Given the description of an element on the screen output the (x, y) to click on. 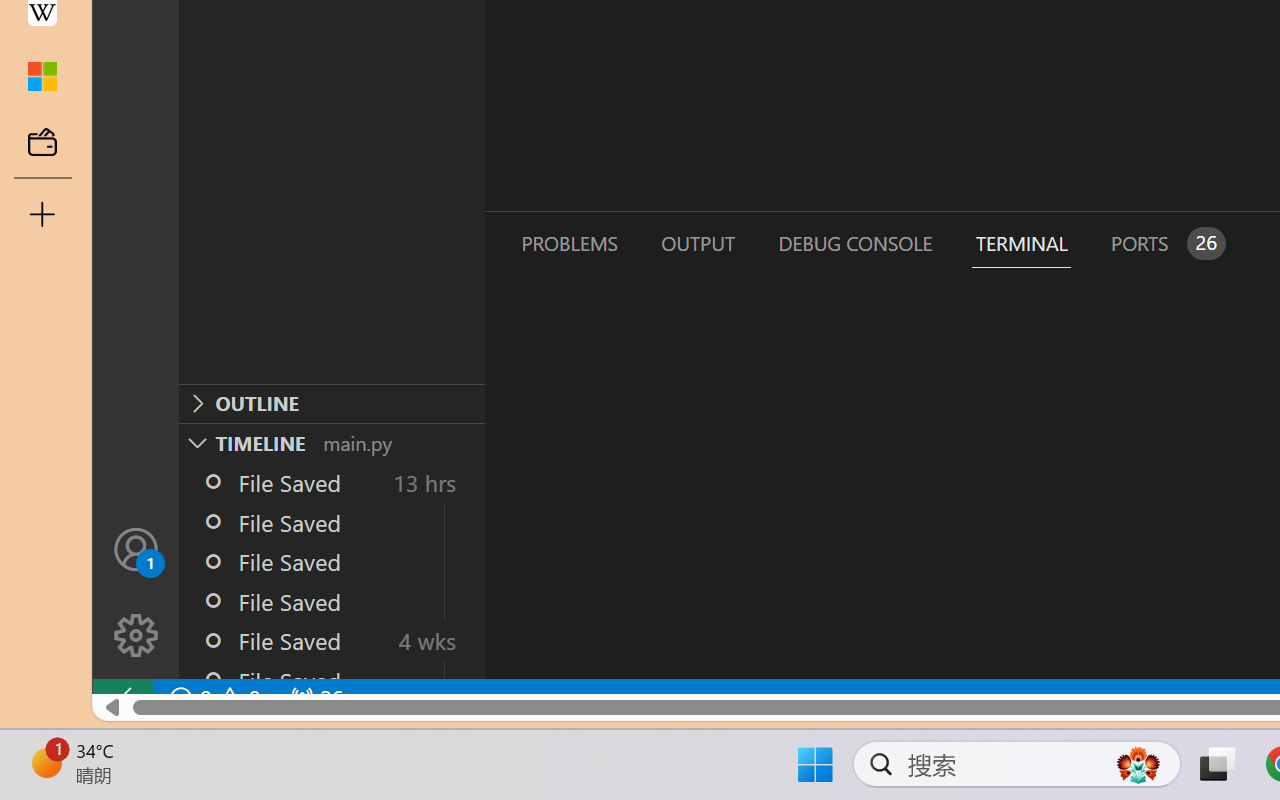
Problems (Ctrl+Shift+M) (567, 243)
Debug Console (Ctrl+Shift+Y) (854, 243)
Output (Ctrl+Shift+U) (696, 243)
No Problems (212, 698)
